Given the description of an element on the screen output the (x, y) to click on. 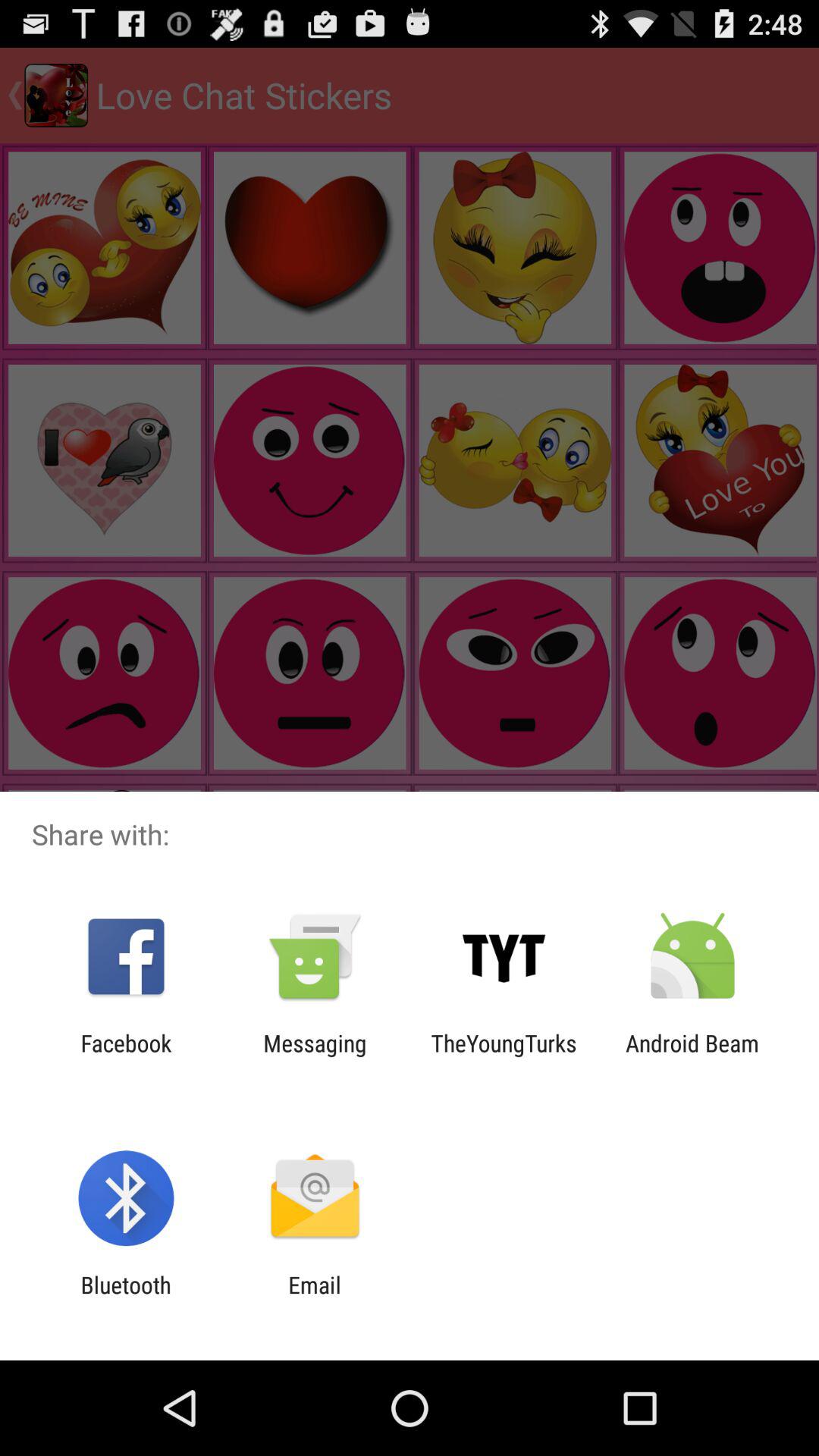
jump until email icon (314, 1298)
